Given the description of an element on the screen output the (x, y) to click on. 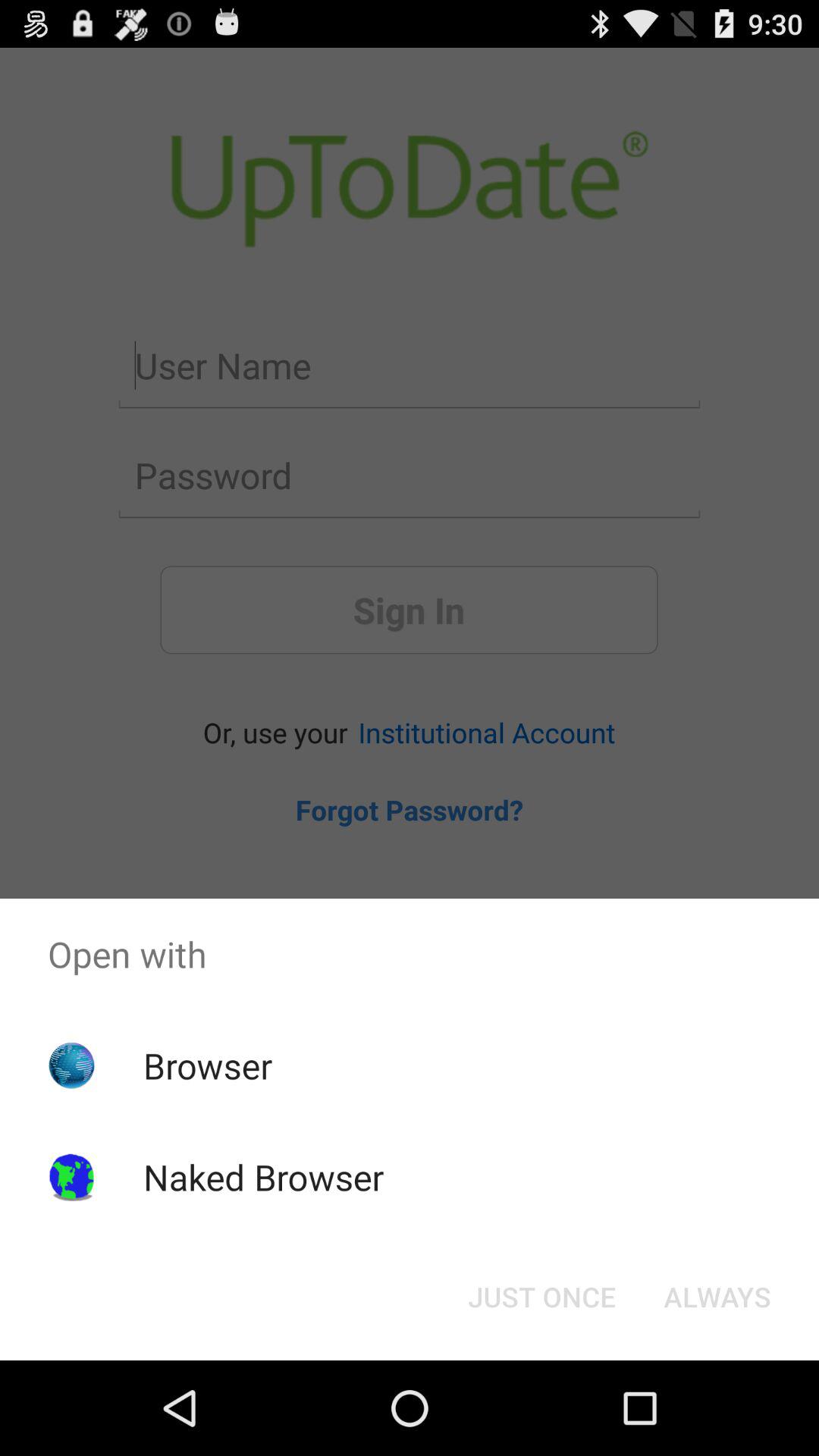
launch the just once at the bottom (541, 1296)
